Given the description of an element on the screen output the (x, y) to click on. 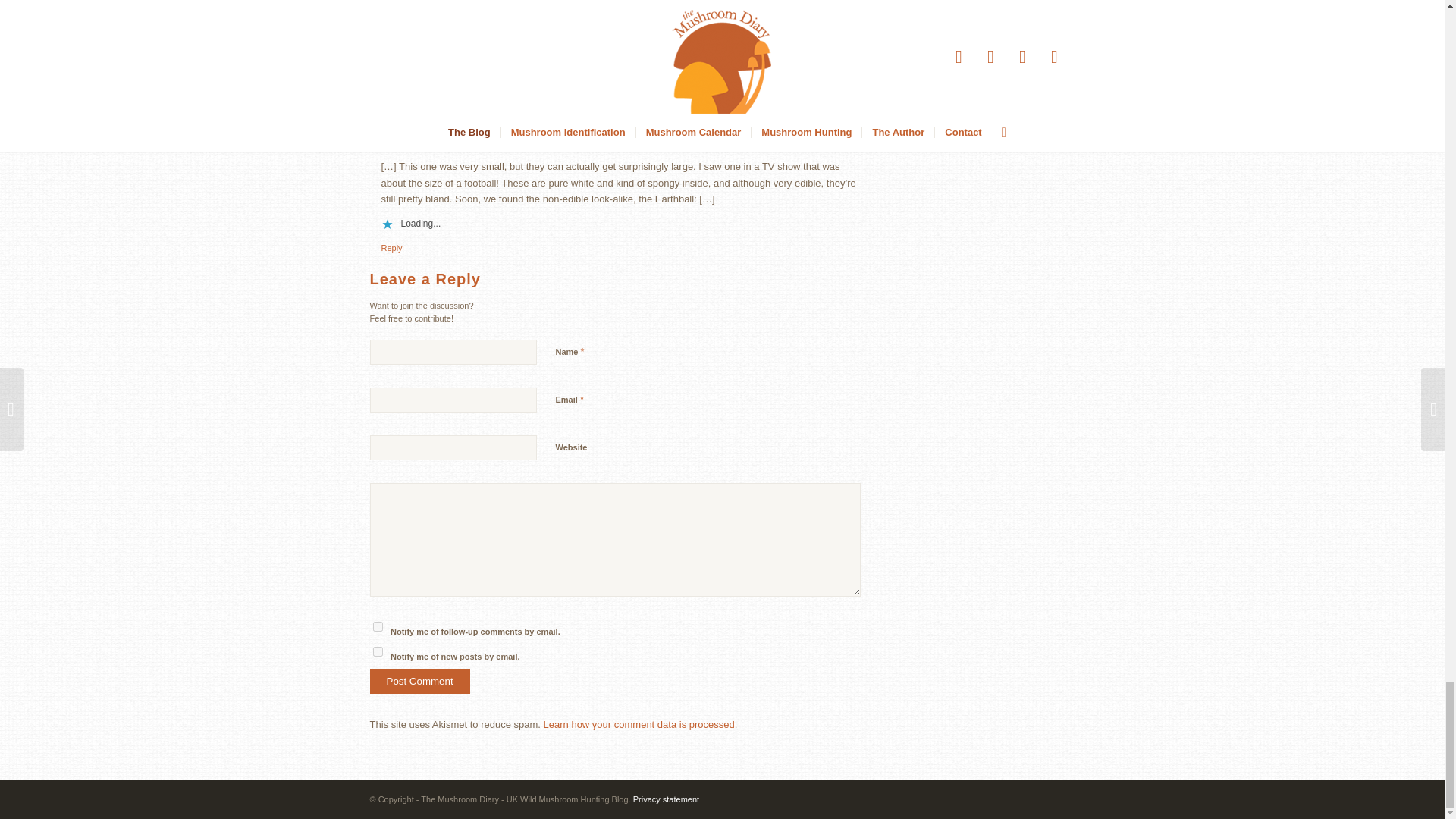
subscribe (377, 626)
subscribe (377, 651)
Post Comment (419, 681)
